Given the description of an element on the screen output the (x, y) to click on. 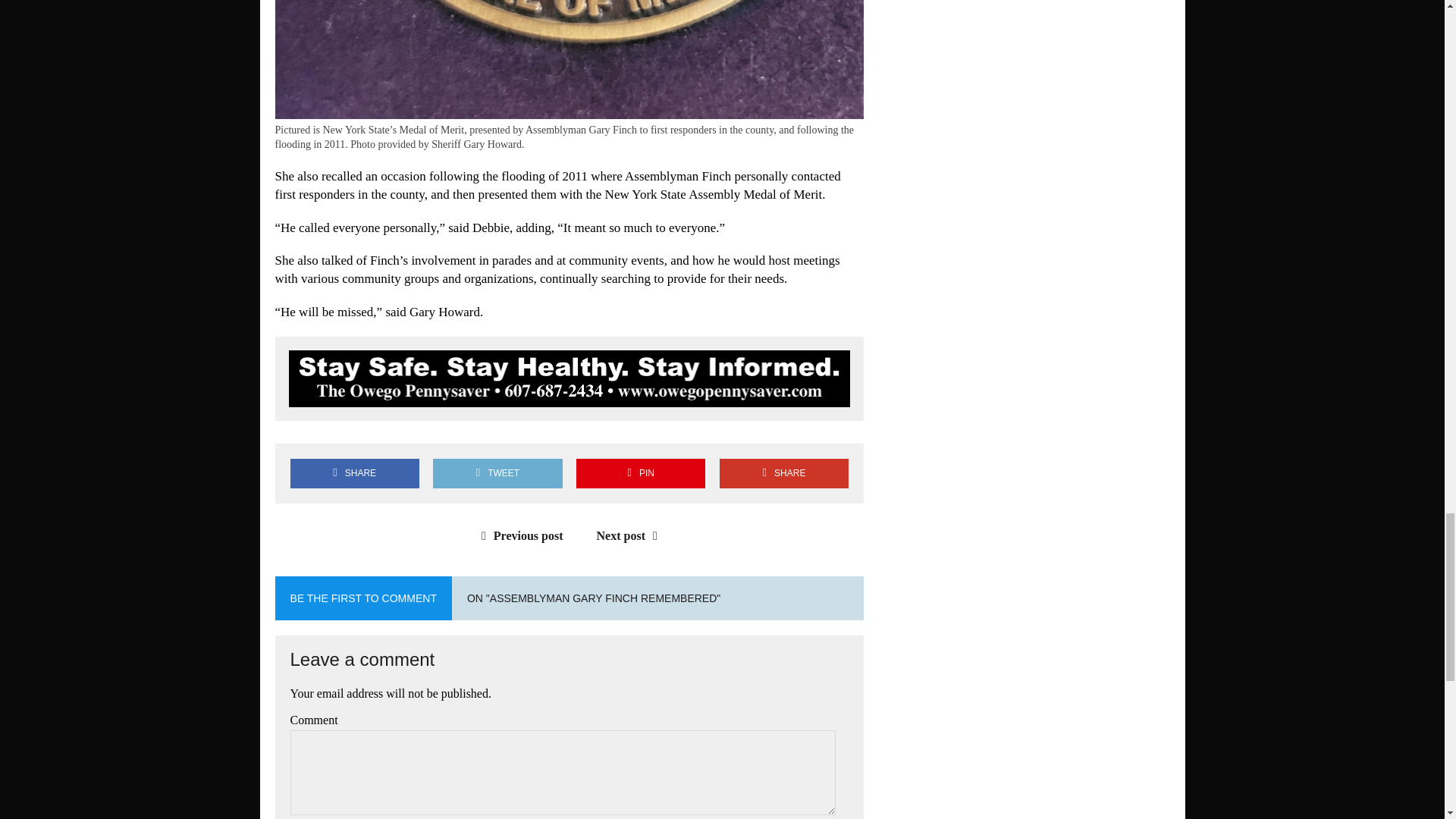
SHARE (354, 473)
TWEET (497, 473)
PIN (640, 473)
Tweet This Post (497, 473)
Share on Facebook (354, 473)
Pin This Post (640, 473)
